Given the description of an element on the screen output the (x, y) to click on. 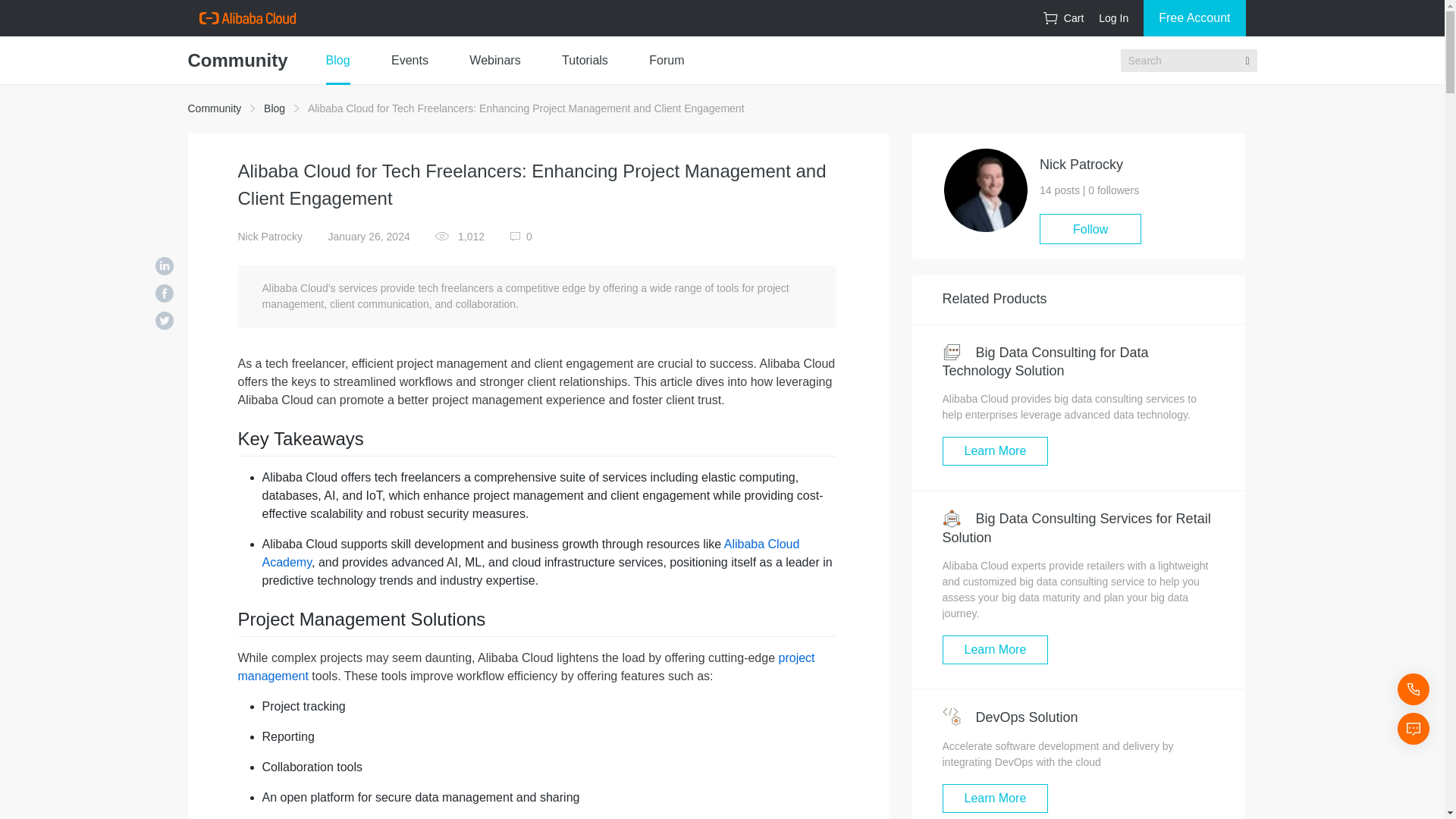
Log In (1112, 17)
Free Account (1193, 18)
0 (520, 236)
Webinars (493, 60)
Nick Patrocky (270, 236)
Blog (274, 108)
AliCloud (246, 18)
  Cart (1062, 17)
Alibaba Cloud Academy (530, 552)
Community (214, 108)
project management (526, 666)
Tutorials (585, 60)
